Given the description of an element on the screen output the (x, y) to click on. 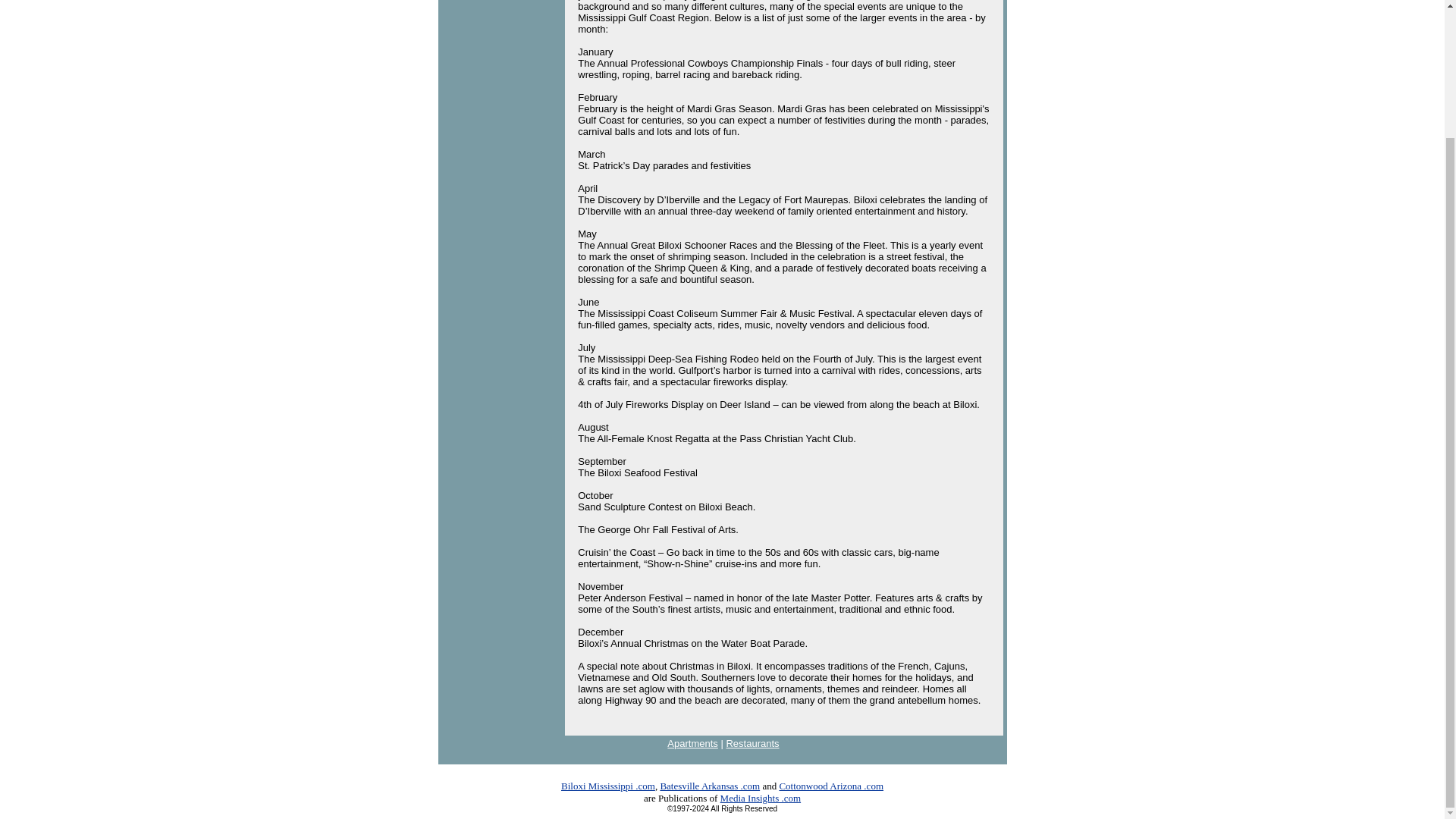
Media Insights .com (761, 797)
Biloxi Mississippi .com (607, 785)
Cottonwood Arizona .com (830, 785)
Batesville Arkansas .com (709, 785)
Restaurants (751, 742)
Apartments (691, 742)
